Given the description of an element on the screen output the (x, y) to click on. 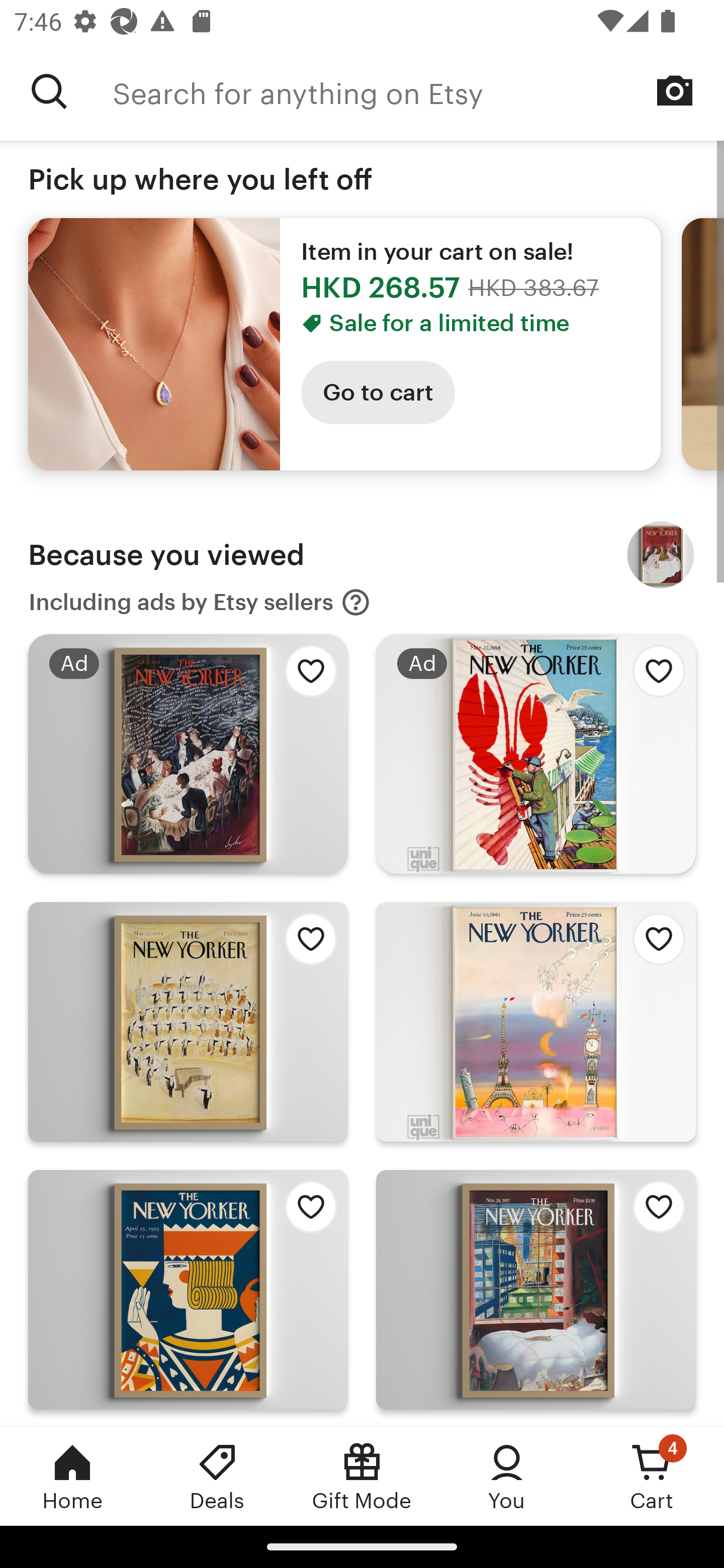
Search for anything on Etsy (49, 91)
Search by image (674, 90)
Search for anything on Etsy (418, 91)
Including ads by Etsy sellers (199, 601)
Deals (216, 1475)
Gift Mode (361, 1475)
You (506, 1475)
Cart, 4 new notifications Cart (651, 1475)
